Given the description of an element on the screen output the (x, y) to click on. 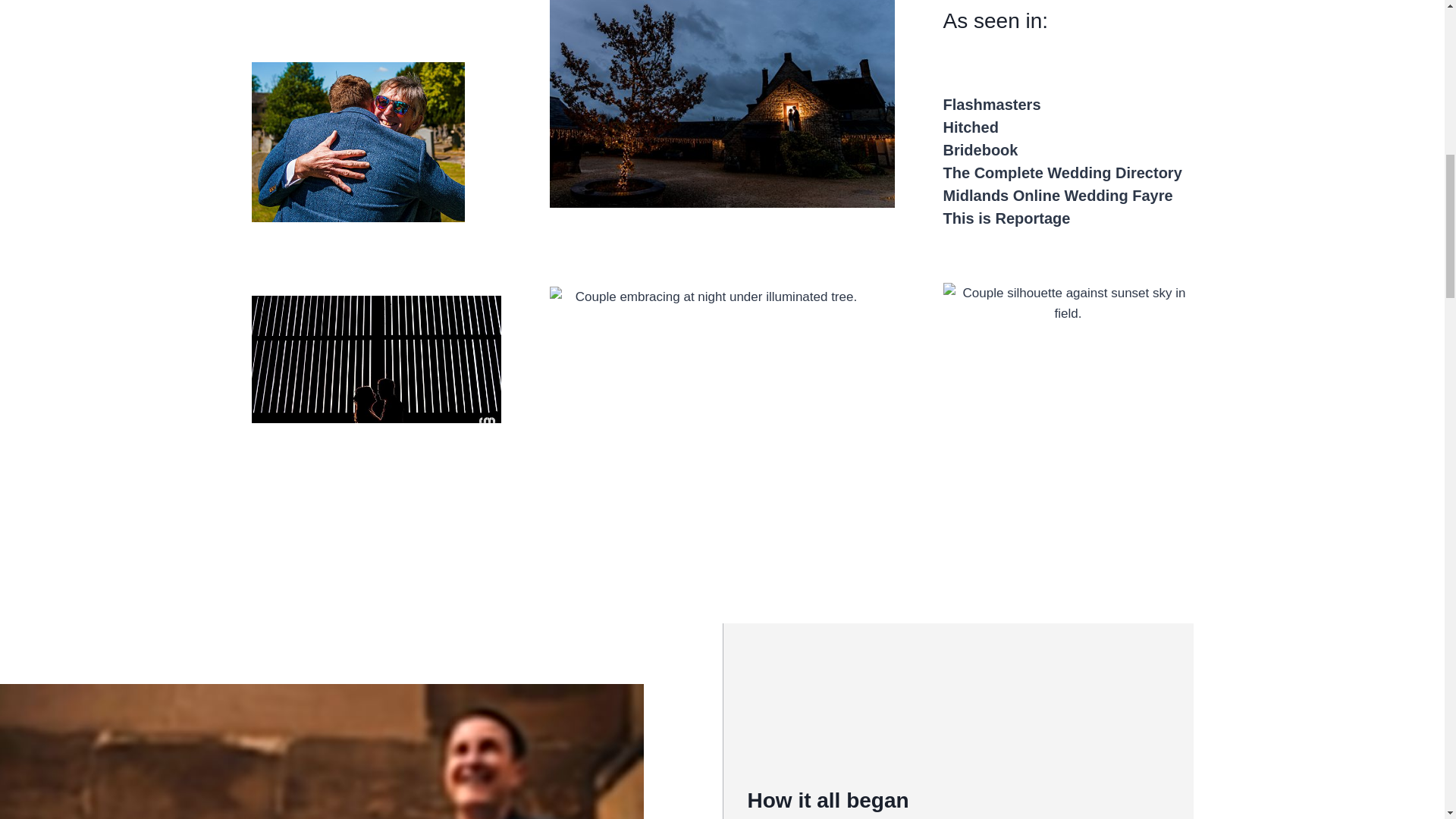
This is Reportage (1006, 217)
Hitched (970, 126)
Flashmasters (992, 104)
The Complete Wedding Directory (1062, 172)
Bridebook (980, 149)
